Given the description of an element on the screen output the (x, y) to click on. 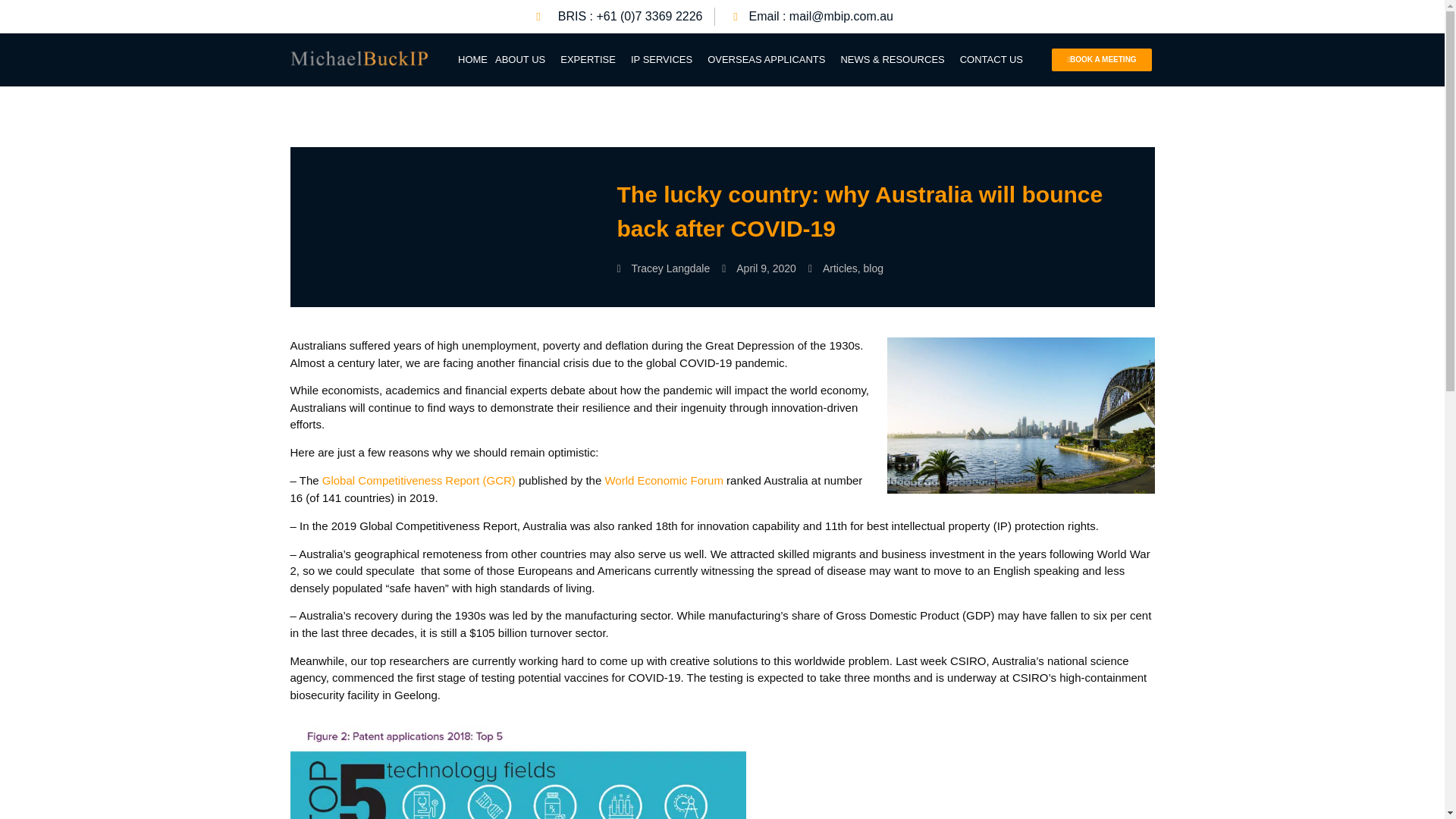
HOME (472, 59)
EXPERTISE (591, 59)
IP SERVICES (665, 59)
ABOUT US (524, 59)
